Given the description of an element on the screen output the (x, y) to click on. 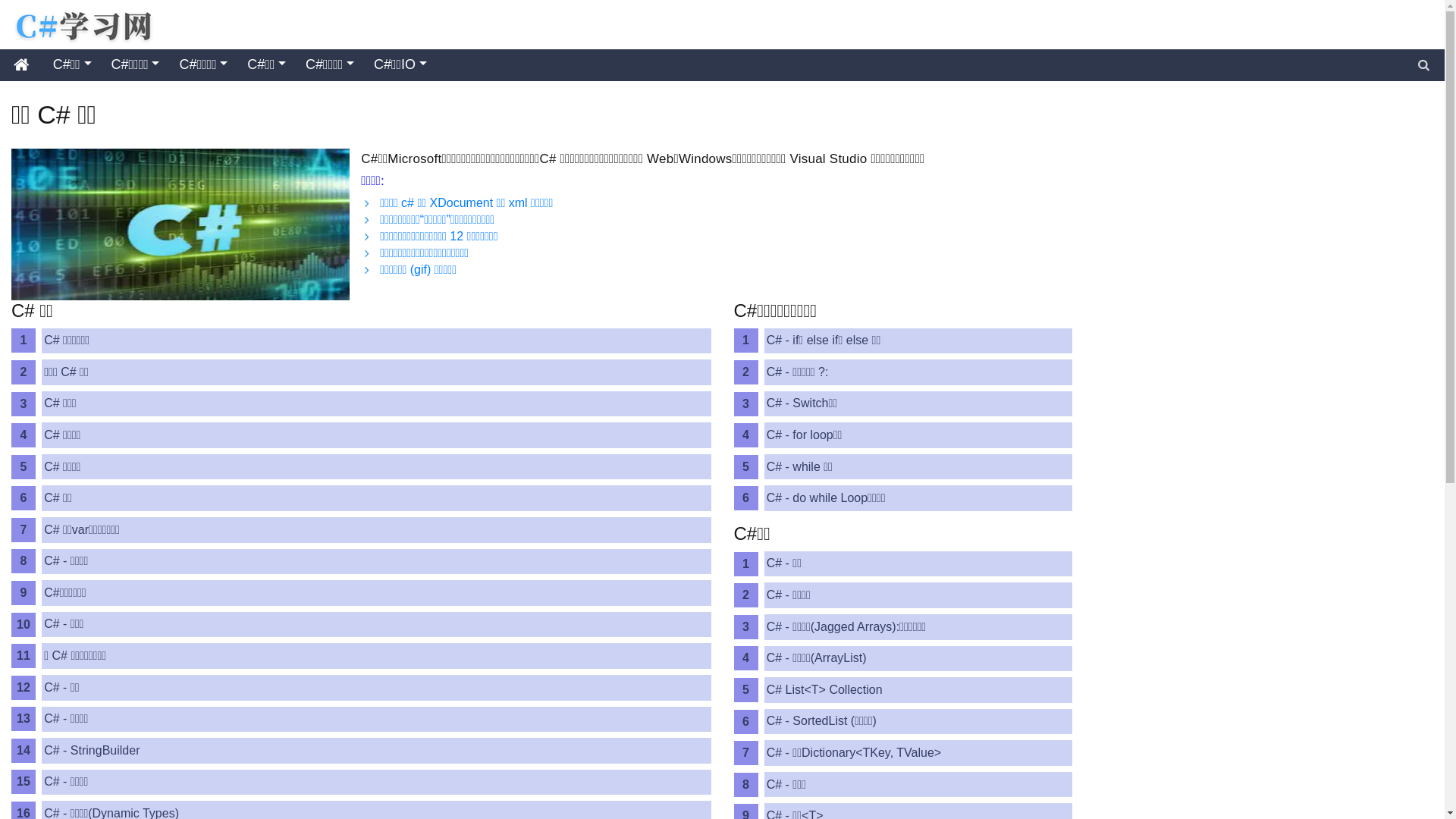
C# - StringBuilder Element type: text (376, 750)
C# List<T> Collection Element type: text (918, 689)
